Given the description of an element on the screen output the (x, y) to click on. 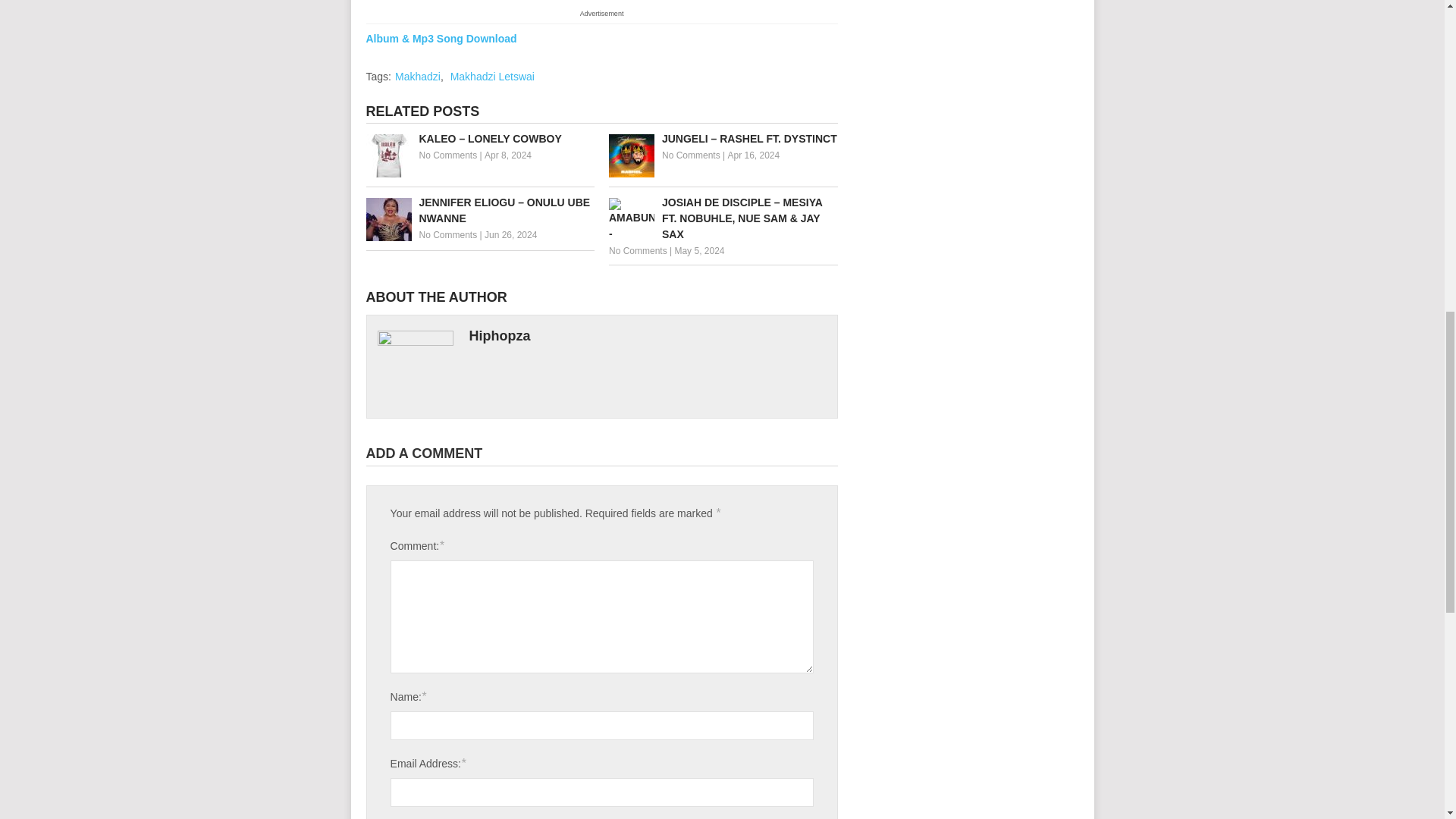
No Comments (691, 154)
Makhadzi Letswai (491, 76)
No Comments (448, 235)
No Comments (637, 250)
No Comments (448, 154)
Makhadzi (417, 76)
